Given the description of an element on the screen output the (x, y) to click on. 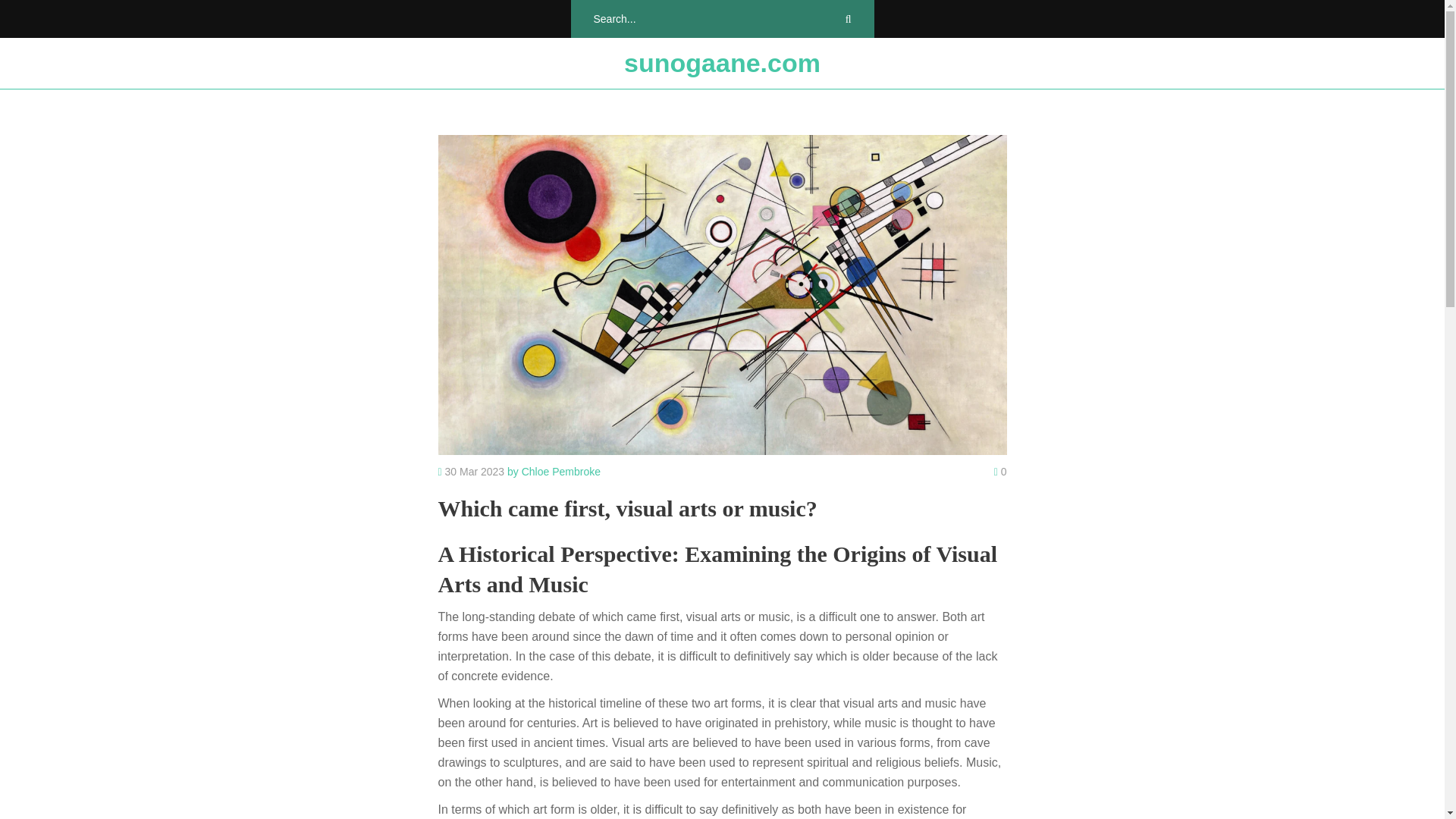
by Chloe Pembroke (552, 471)
sunogaane.com (722, 62)
